Given the description of an element on the screen output the (x, y) to click on. 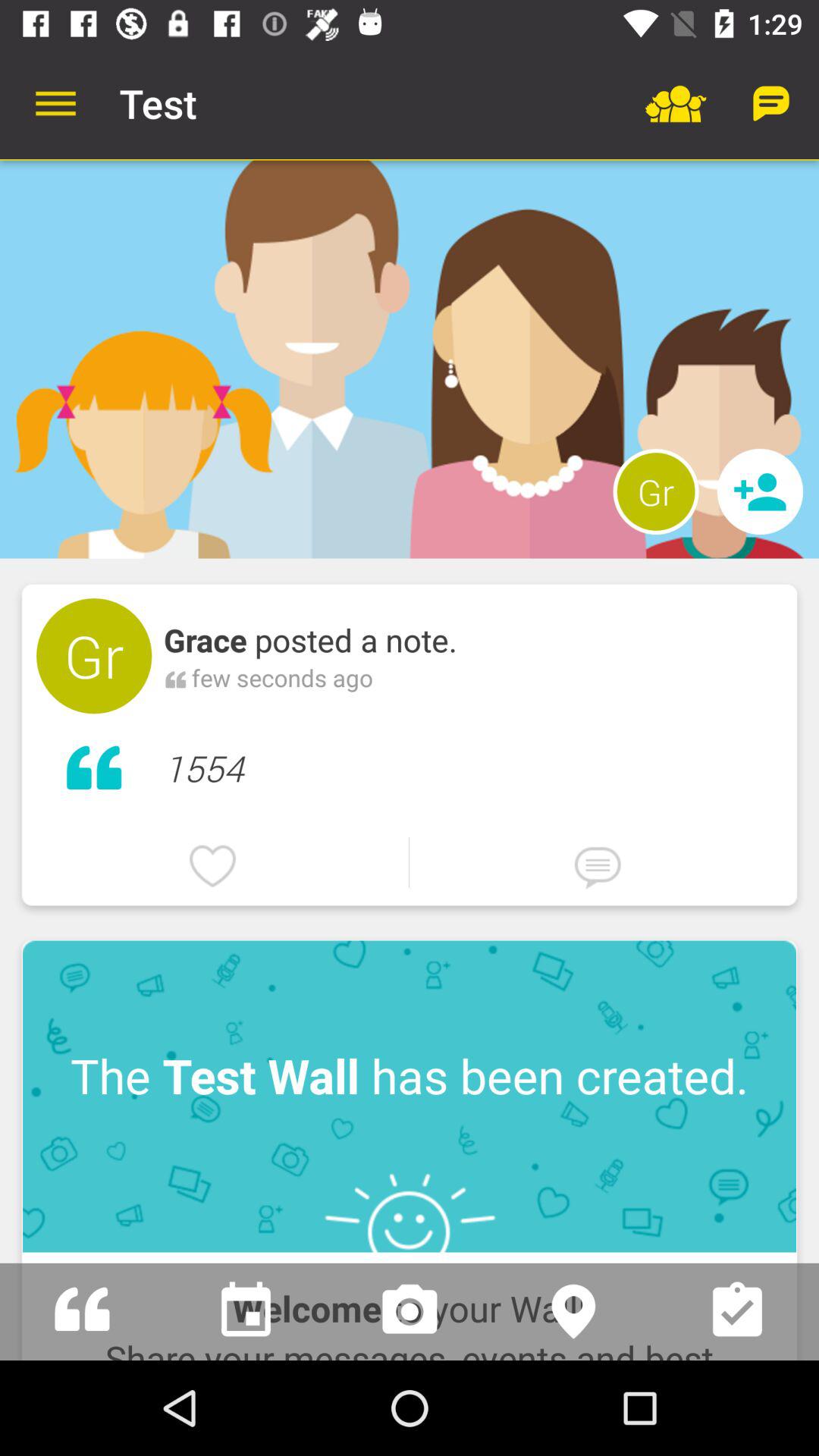
use camera (409, 1311)
